Given the description of an element on the screen output the (x, y) to click on. 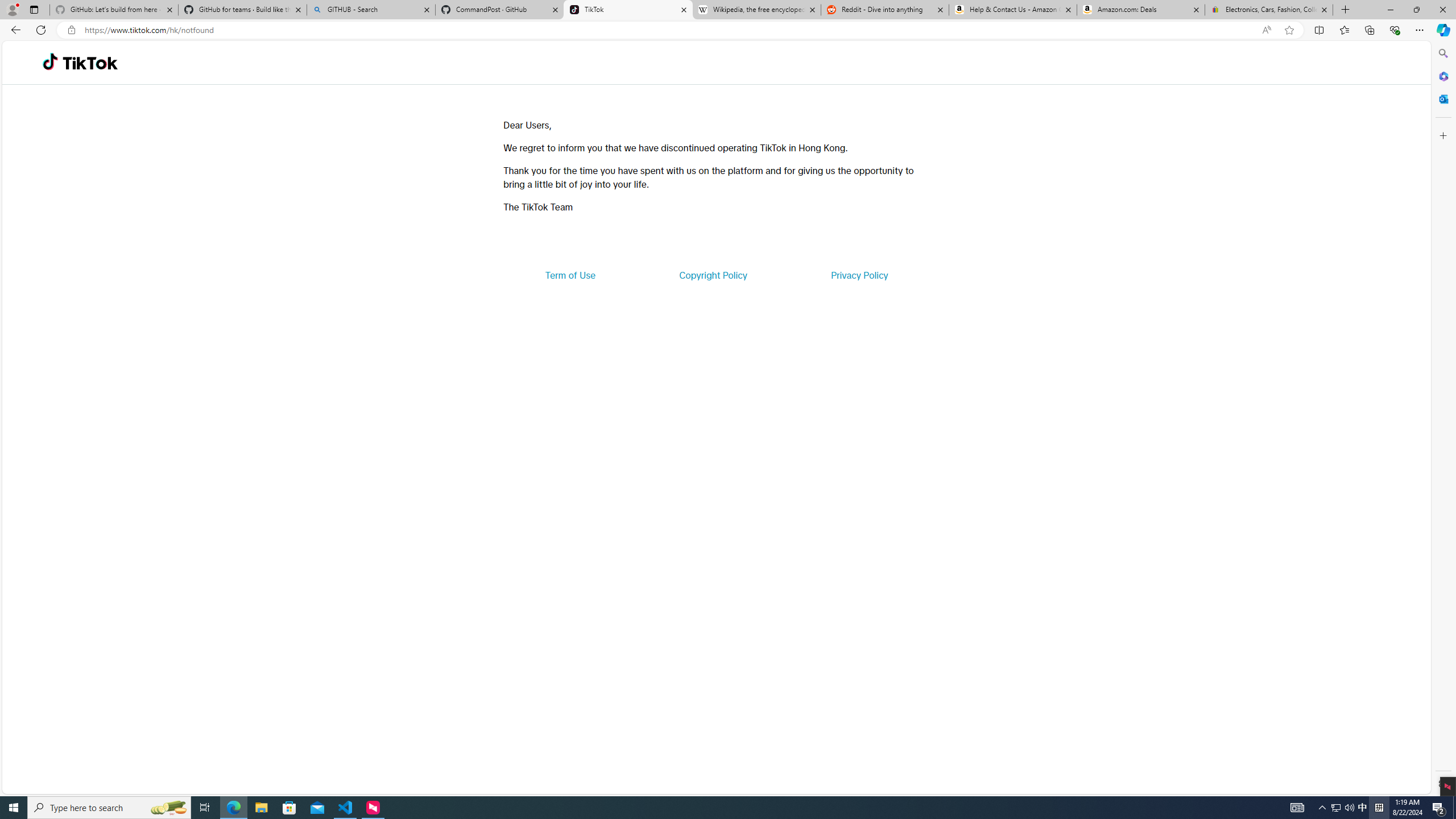
GITHUB - Search (370, 9)
